Given the description of an element on the screen output the (x, y) to click on. 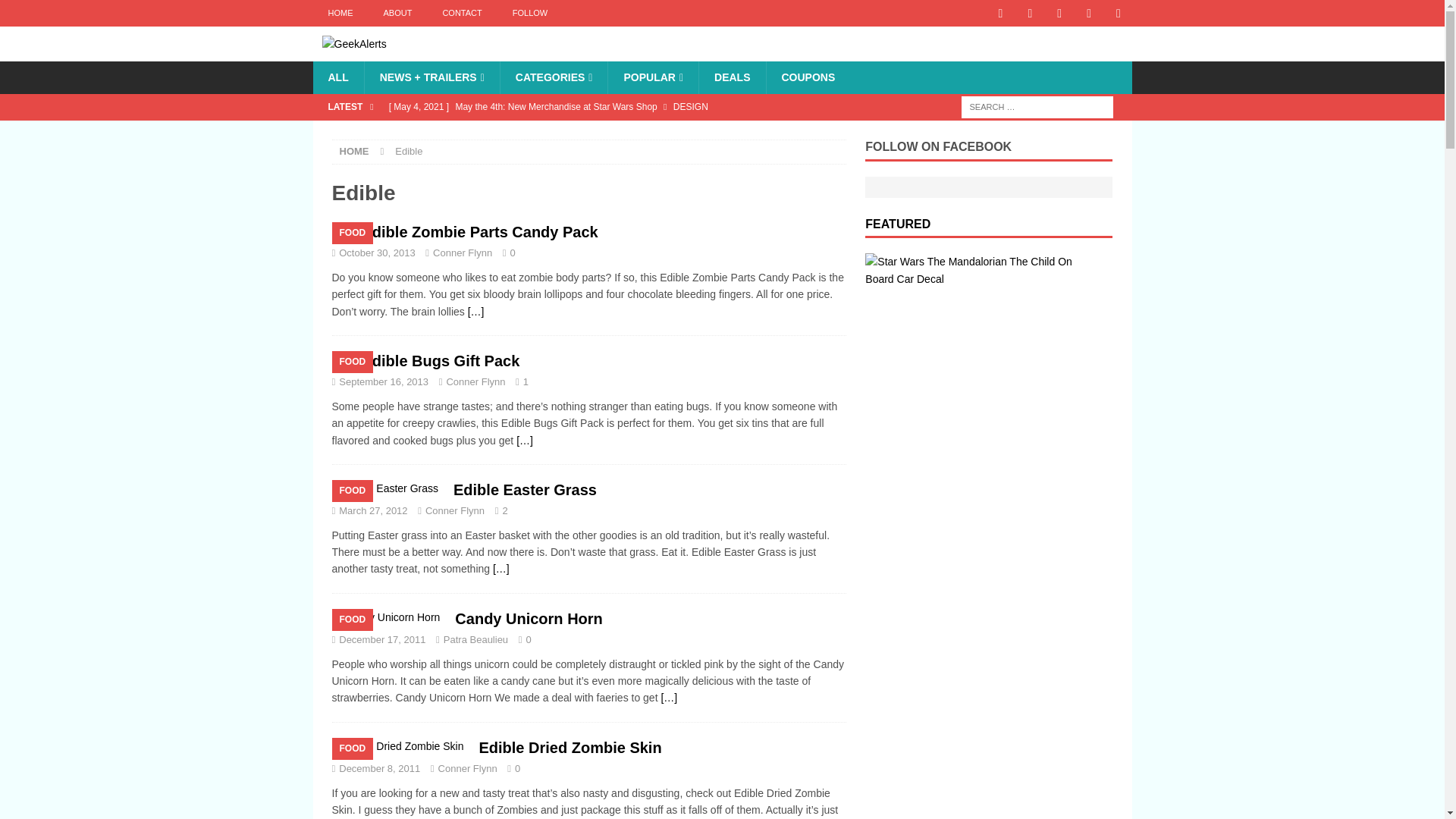
CATEGORIES (553, 77)
Rick and Morty Get Shwifty Bluetooth Speaker (612, 132)
Edible Bugs Gift Pack (440, 360)
CONTACT (461, 13)
Edible Zombie Parts Candy Pack (480, 231)
Edible Dried Zombie Skin (570, 747)
Edible Easter Grass (524, 489)
Search (56, 11)
COUPONS (807, 77)
Candy Unicorn Horn (669, 697)
ABOUT (398, 13)
HOME (340, 13)
Edible Zombie Parts Candy Pack (475, 311)
Edible Bugs Gift Pack (524, 440)
DEALS (731, 77)
